Given the description of an element on the screen output the (x, y) to click on. 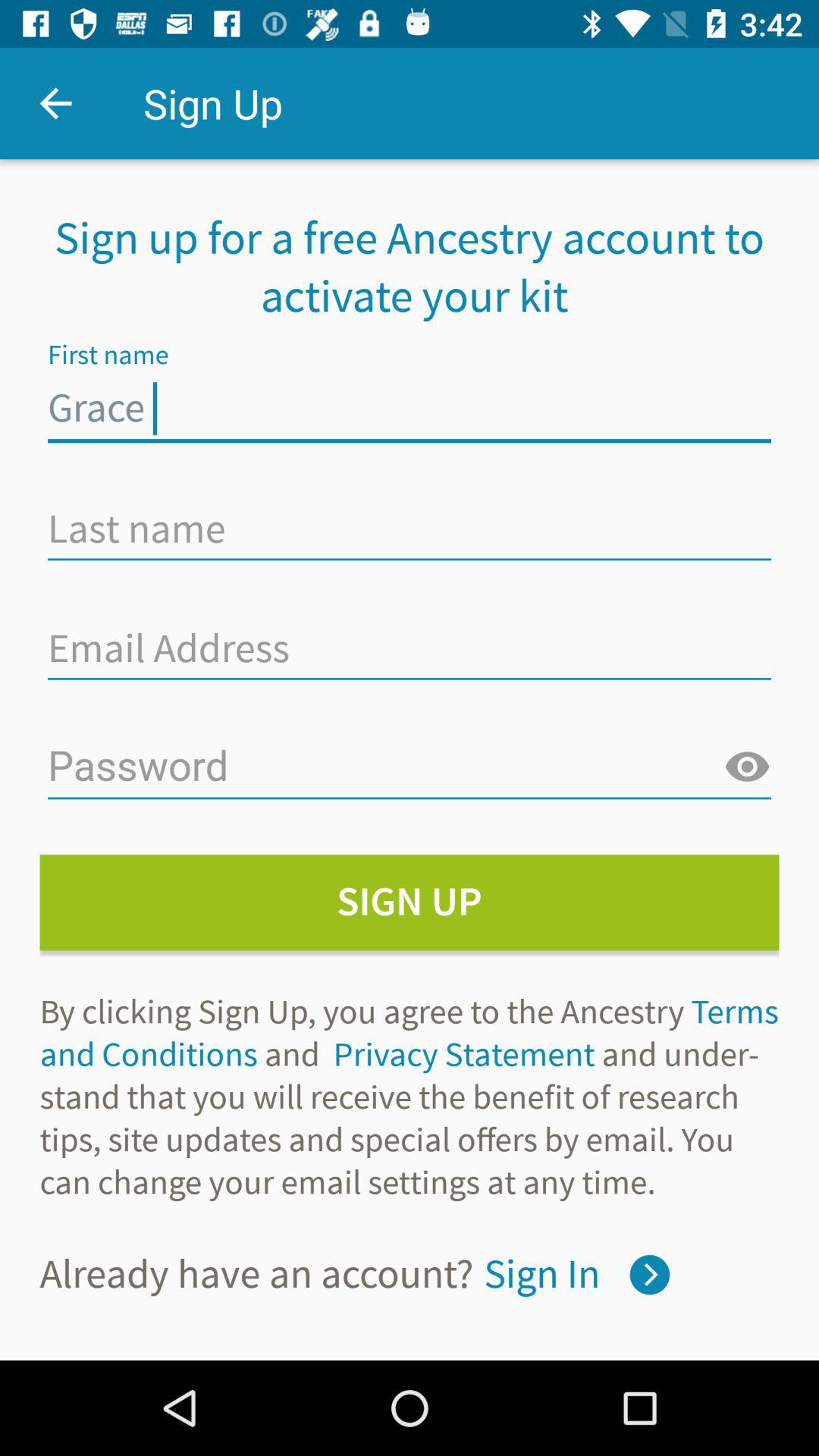
enter password (409, 767)
